Given the description of an element on the screen output the (x, y) to click on. 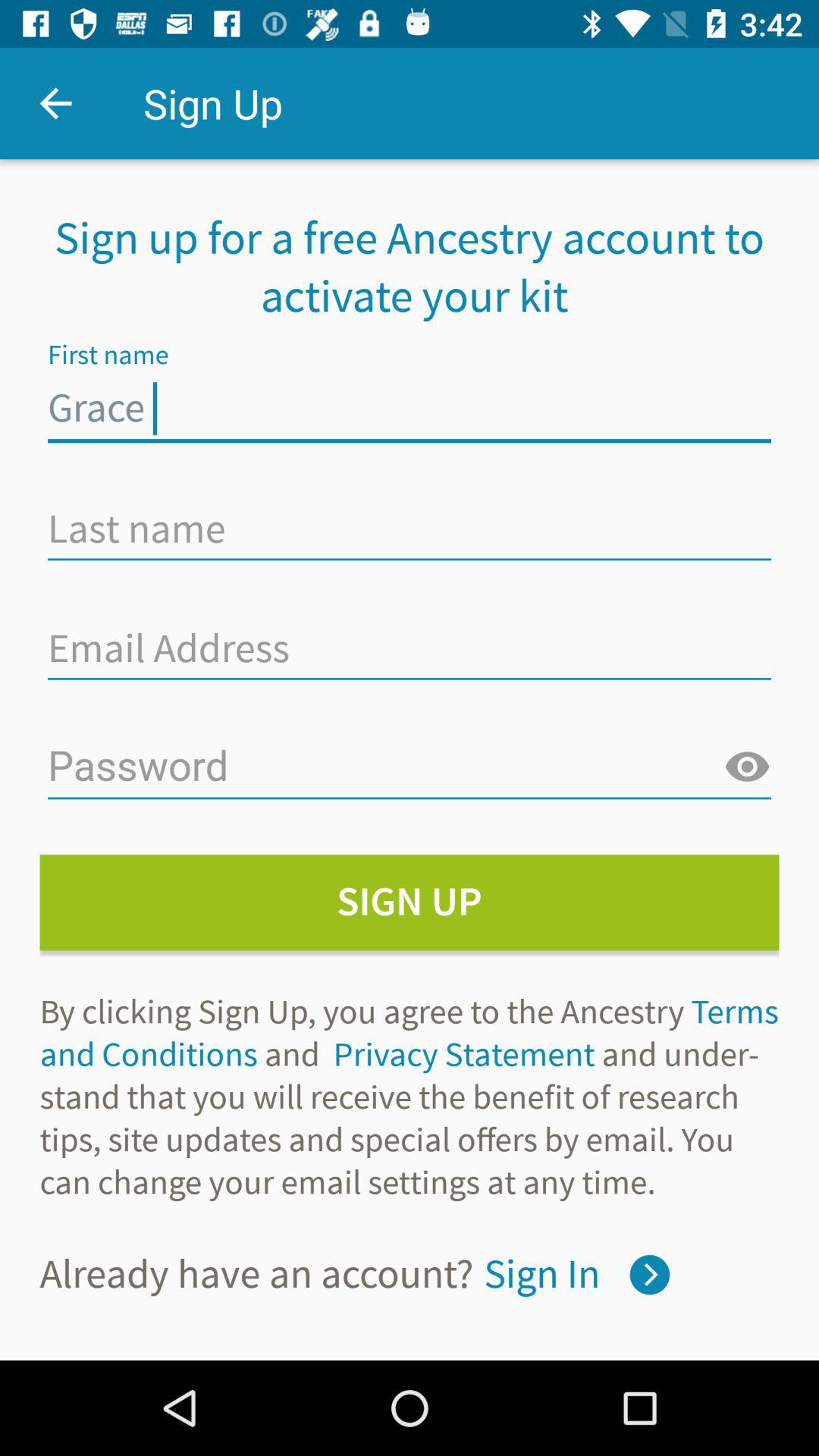
enter password (409, 767)
